Given the description of an element on the screen output the (x, y) to click on. 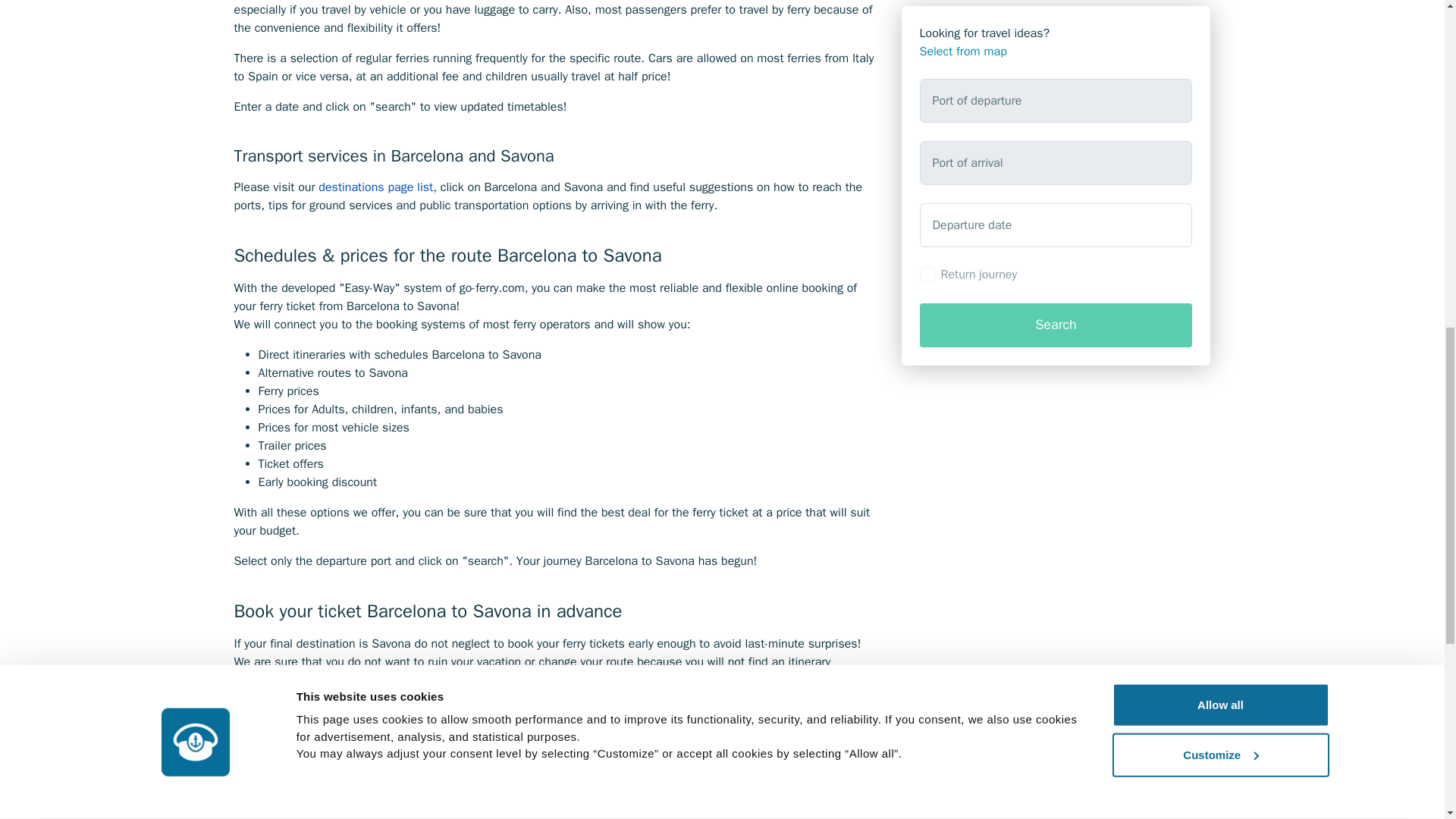
Destinations (375, 186)
